Given the description of an element on the screen output the (x, y) to click on. 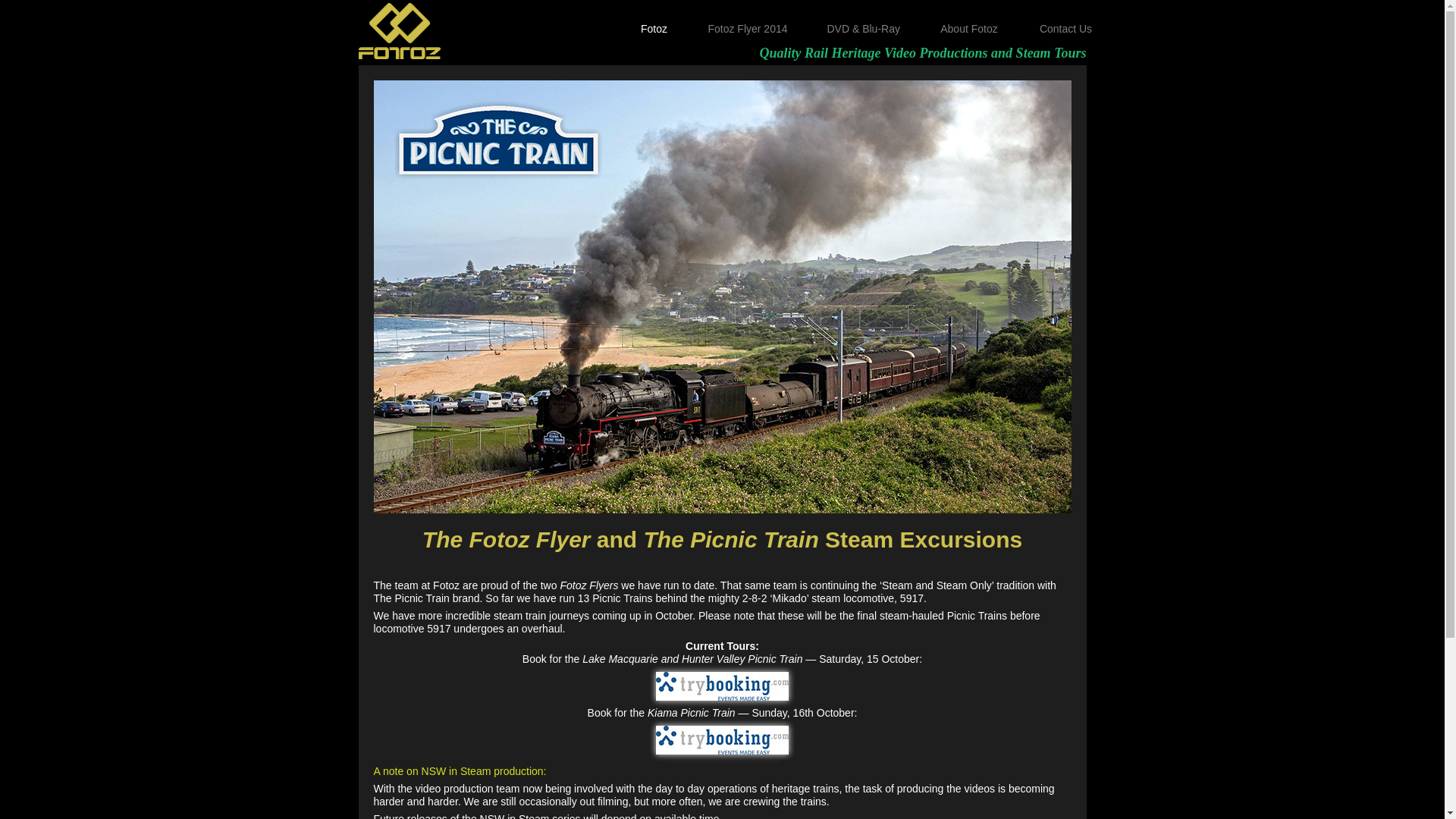
About Fotoz Element type: text (968, 29)
Fotoz Element type: text (654, 29)
Contact Us Element type: text (1065, 29)
DVD & Blu-Ray Element type: text (862, 29)
Fotoz Flyer 2014 Element type: text (747, 29)
